Given the description of an element on the screen output the (x, y) to click on. 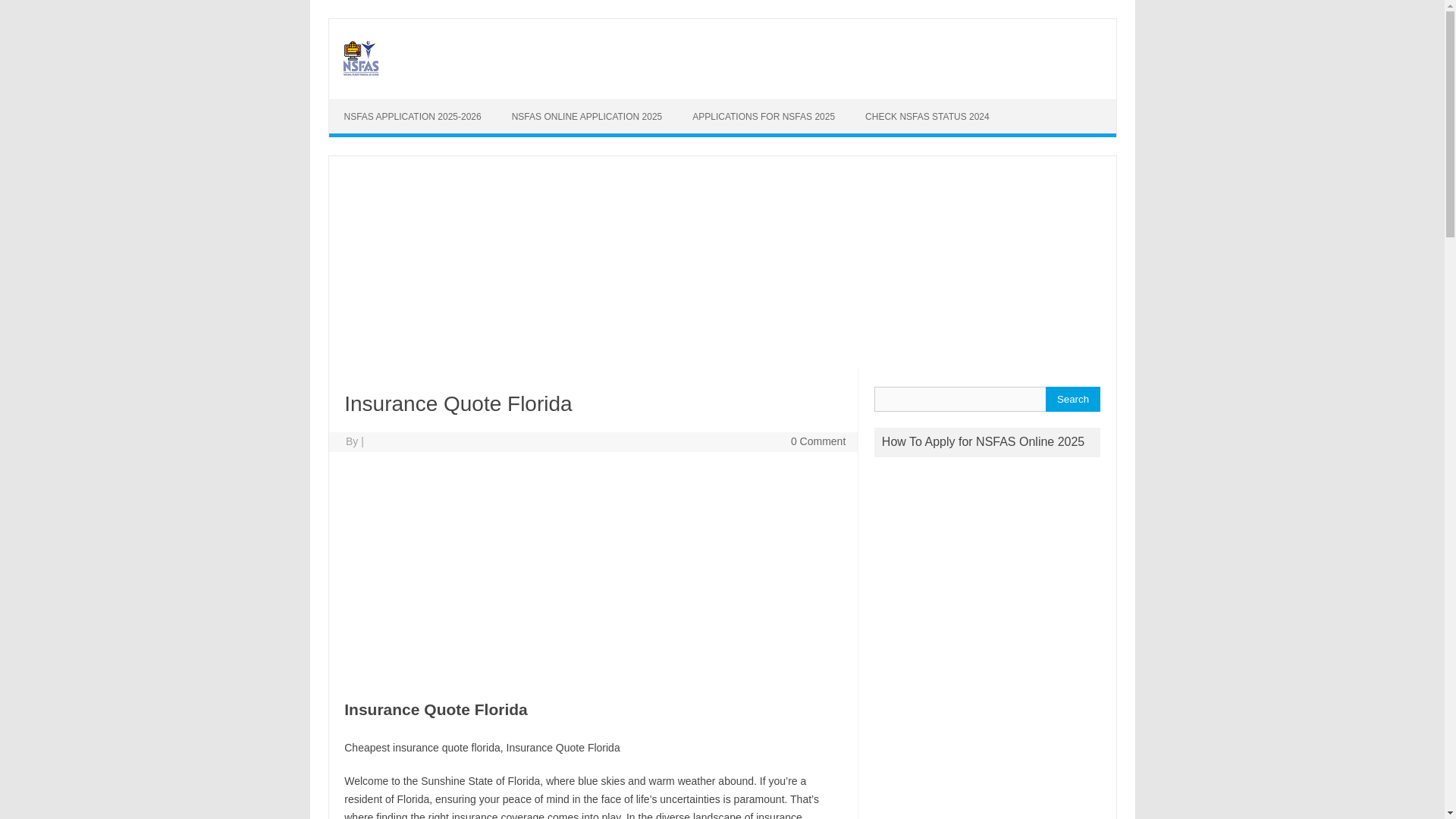
CHECK NSFAS STATUS 2024 (927, 116)
www.nsfas.org.za (359, 73)
NSFAS ONLINE APPLICATION 2025 (587, 116)
APPLICATIONS FOR NSFAS 2025 (763, 116)
Search (1072, 398)
0 Comment (817, 440)
Advertisement (592, 572)
